Given the description of an element on the screen output the (x, y) to click on. 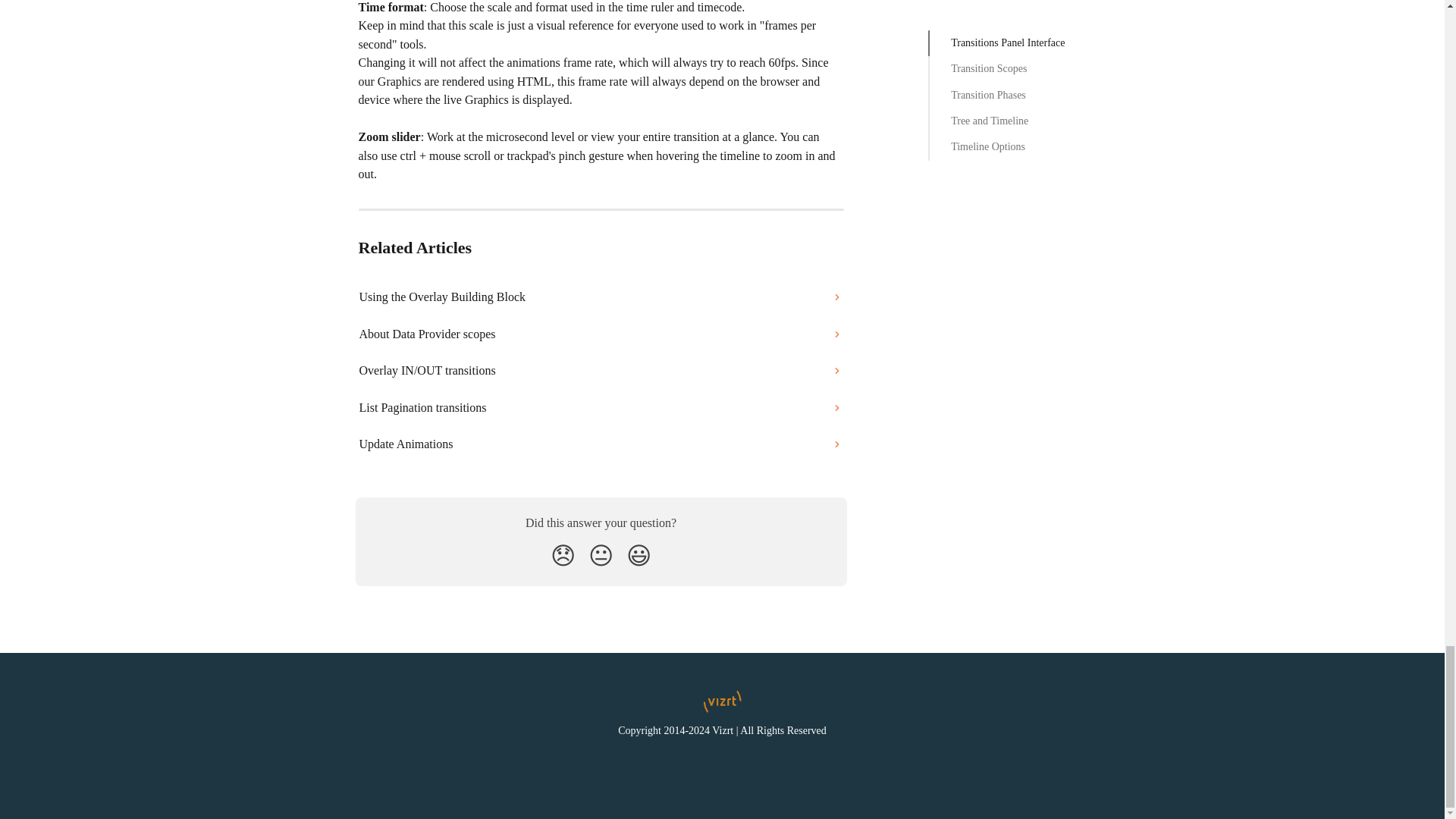
Neutral (600, 555)
Using the Overlay Building Block (600, 297)
Smiley (638, 555)
Disappointed (562, 555)
About Data Provider scopes (600, 334)
List Pagination transitions (600, 407)
Update Animations (600, 443)
